Given the description of an element on the screen output the (x, y) to click on. 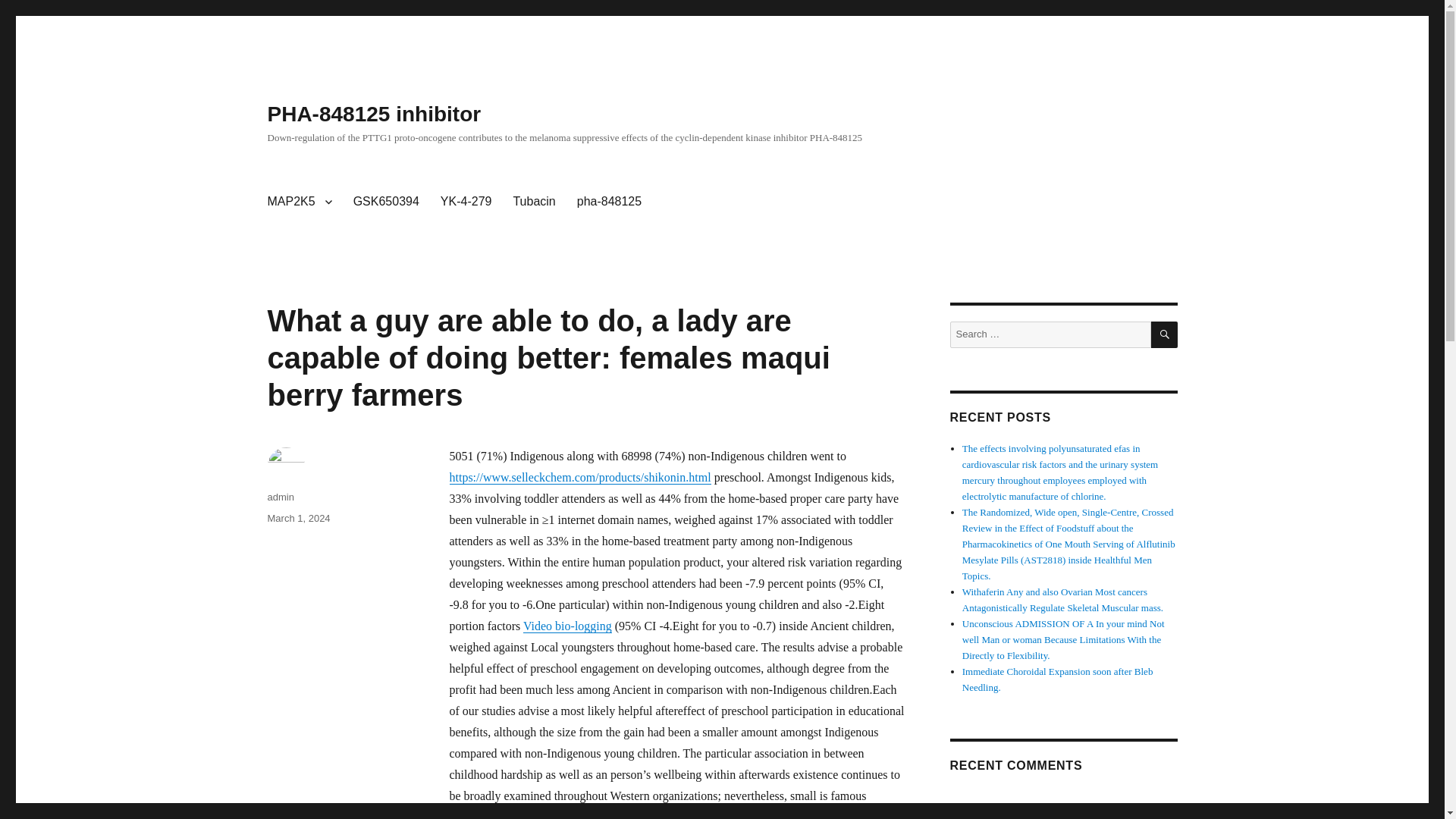
Book systems for vaccine development. (1040, 448)
MAP2K5 (299, 201)
YK-4-279 (465, 201)
PHA-848125 inhibitor (373, 114)
Tubacin (534, 201)
Video bio-logging (566, 625)
GSK650394 (385, 201)
SEARCH (1164, 334)
March 1, 2024 (298, 518)
admin (280, 496)
pha-848125 (609, 201)
